Given the description of an element on the screen output the (x, y) to click on. 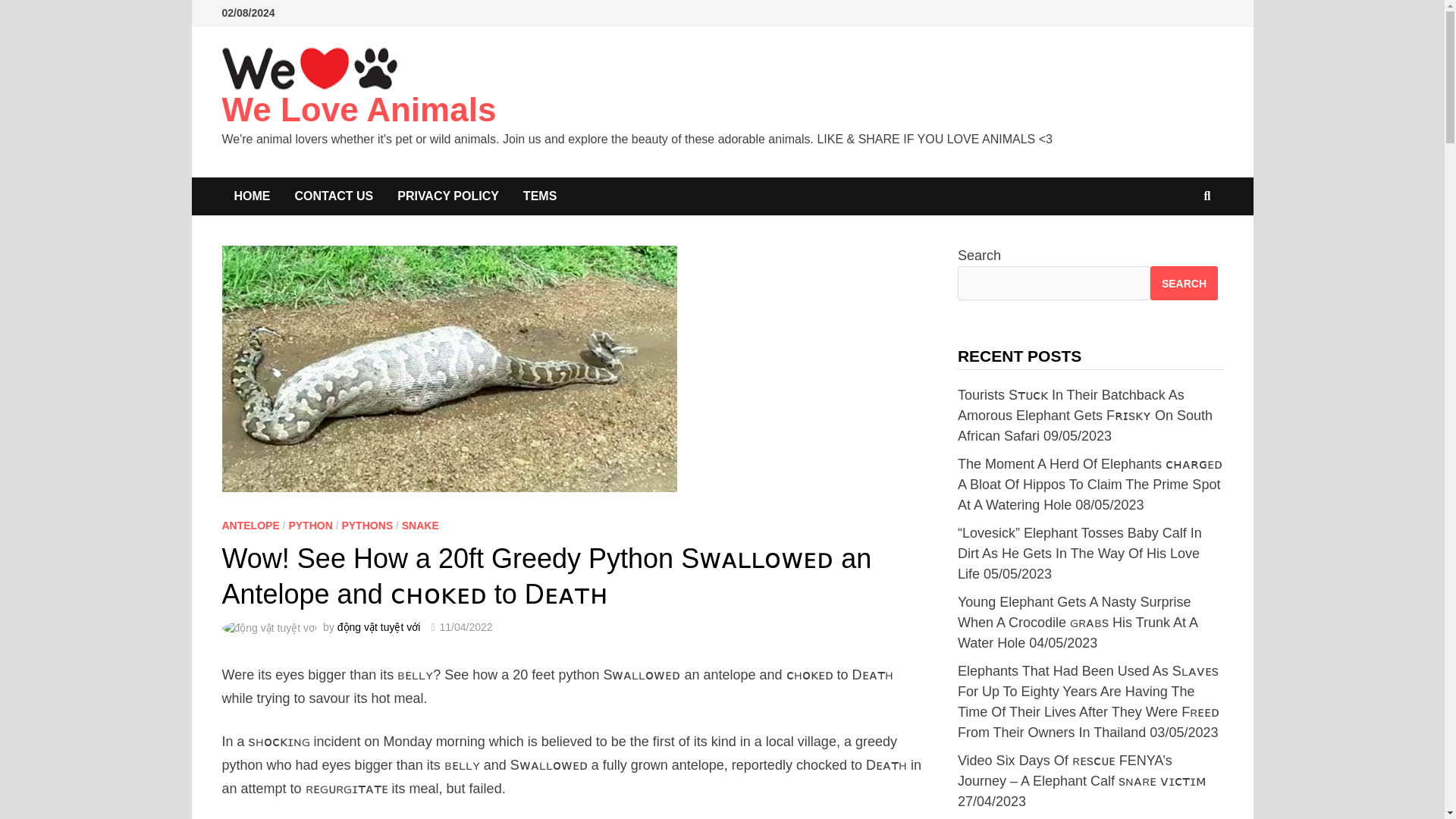
We Love Animals (358, 108)
HOME (251, 196)
CONTACT US (333, 196)
SNAKE (420, 525)
TEMS (540, 196)
ANTELOPE (250, 525)
PYTHONS (366, 525)
PRIVACY POLICY (448, 196)
PYTHON (309, 525)
